Given the description of an element on the screen output the (x, y) to click on. 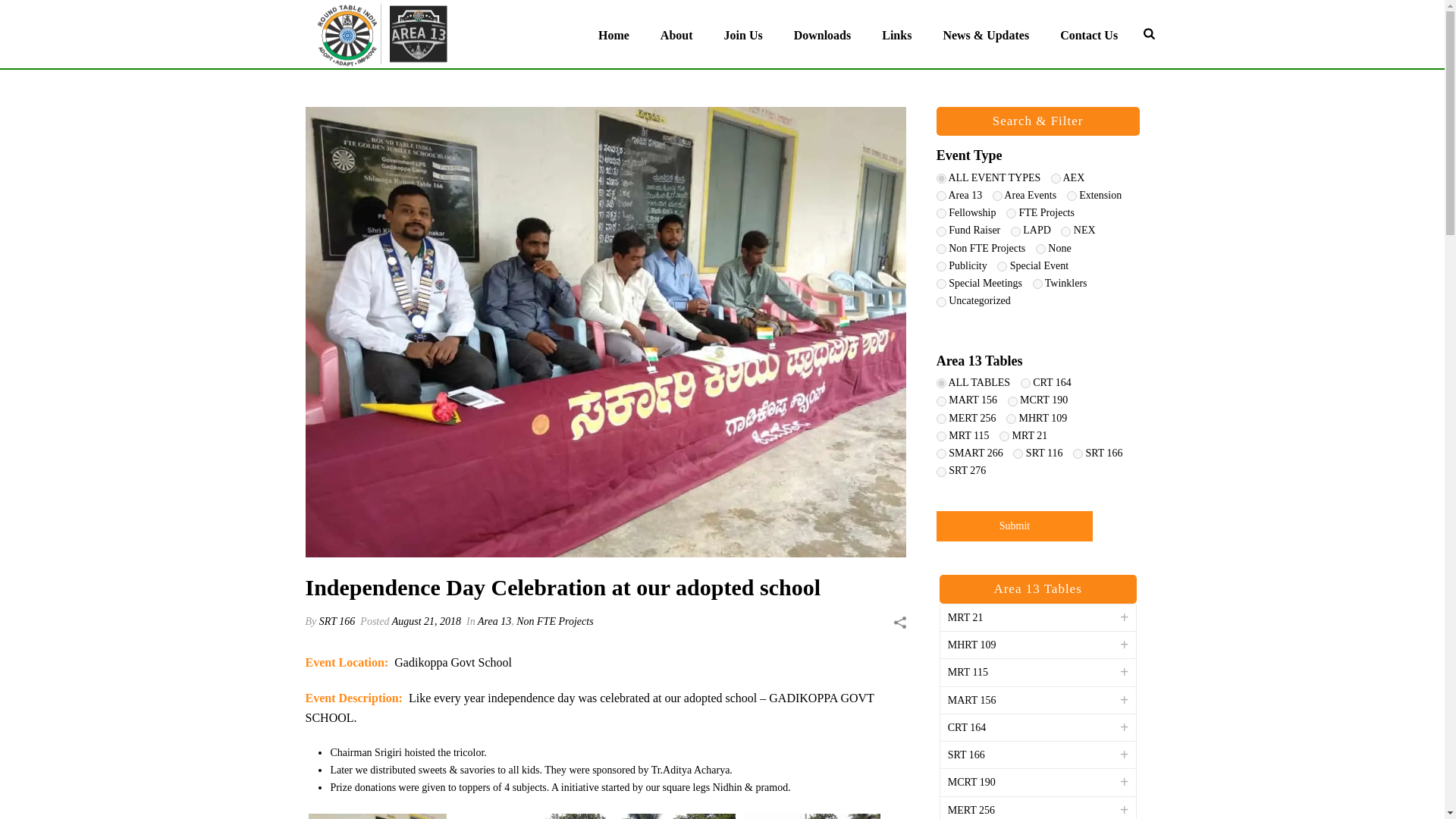
Posts by SRT 166 (336, 621)
Downloads (822, 33)
Independence Day Celebration at our adopted school (810, 816)
50 (1037, 284)
31 (941, 213)
Independence Day Celebration at our adopted school (593, 816)
30 (941, 284)
49 (1015, 231)
Join Us (743, 33)
86 (1002, 266)
0 (941, 178)
80 (1056, 178)
27 (941, 195)
0 (941, 383)
Join Us (743, 33)
